Given the description of an element on the screen output the (x, y) to click on. 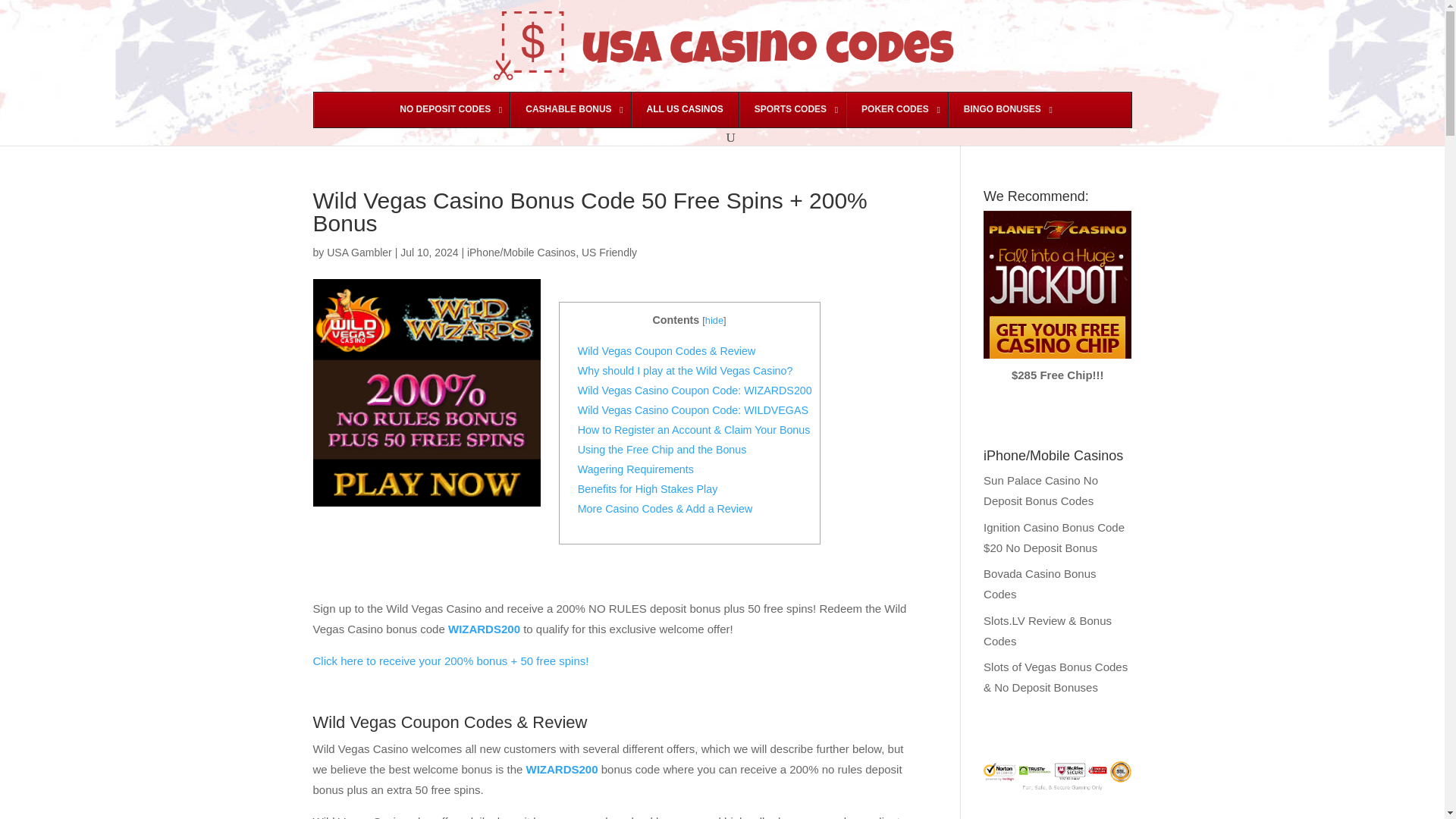
Online Bingo (1003, 109)
Sun Palace Casino No Deposit Bonus Codes (1040, 490)
NO DEPOSIT CODES (446, 109)
No Deposit Codes (446, 109)
ALL US CASINOS (684, 109)
Safe Secure Gaming (1057, 775)
Posts by USA Gambler (358, 252)
SPORTS CODES (791, 109)
Bovada Casino Bonus Codes (1040, 583)
More USA Casinos (684, 109)
CASHABLE BONUS (569, 109)
Cashable Welcome Bonuses (569, 109)
